Given the description of an element on the screen output the (x, y) to click on. 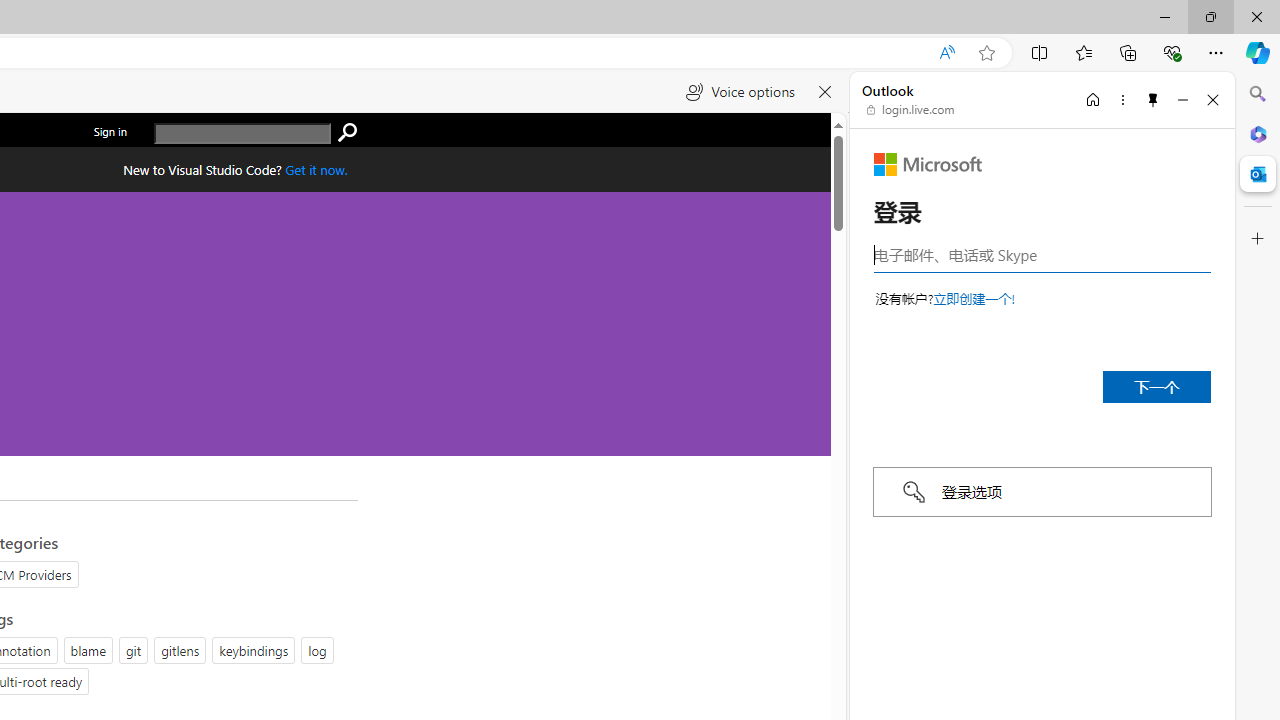
login.live.com (911, 110)
search (242, 133)
Voice options (740, 92)
Get Visual Studio Code Now (316, 169)
search (347, 133)
